Given the description of an element on the screen output the (x, y) to click on. 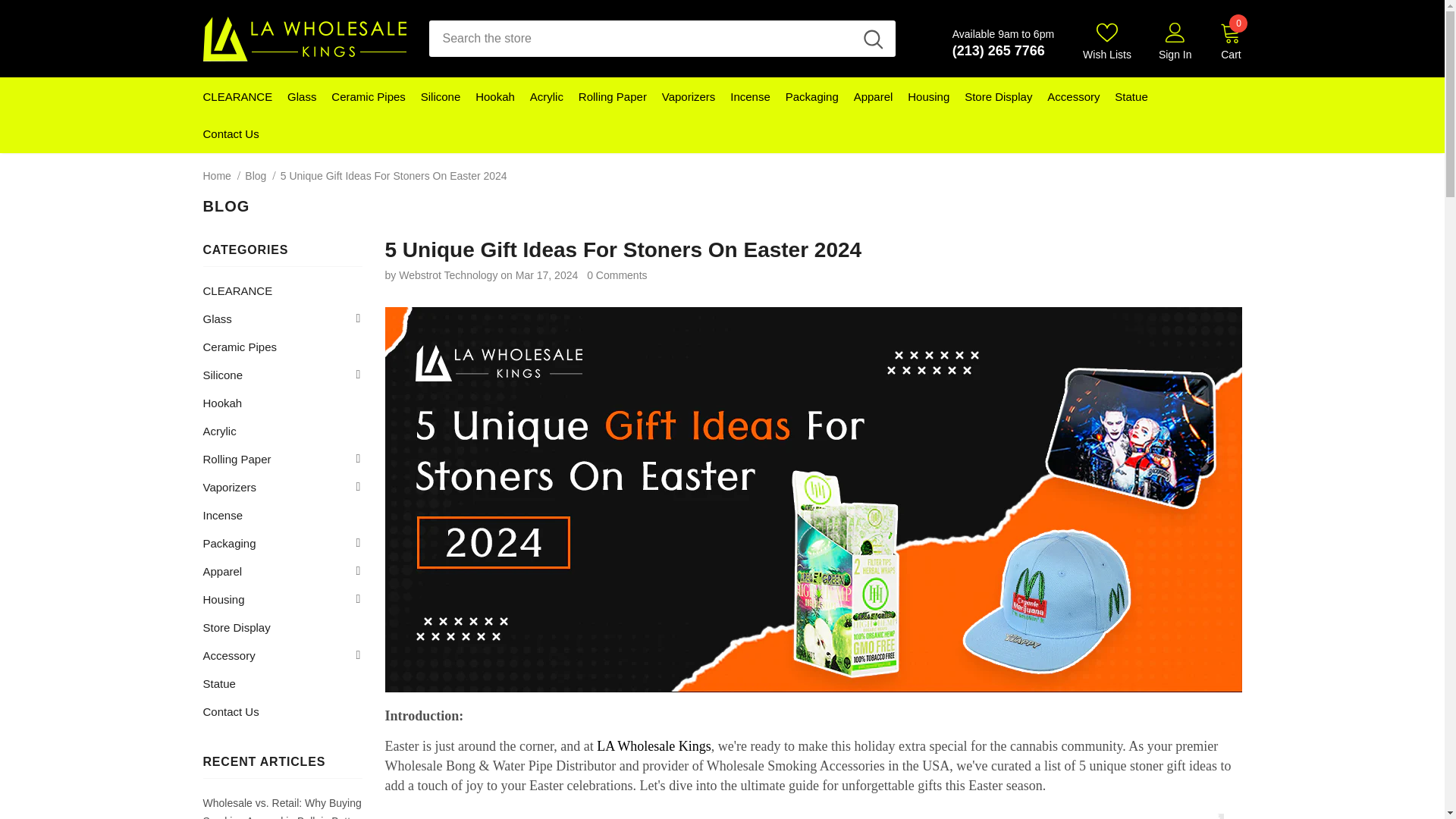
CLEARANCE (238, 96)
Home (217, 175)
Vaporizers (689, 96)
Blog (255, 175)
Apparel (873, 96)
Wish Lists (1107, 41)
Store Display (997, 96)
Ceramic Pipes (368, 96)
Hookah (495, 96)
Silicone (440, 96)
